Given the description of an element on the screen output the (x, y) to click on. 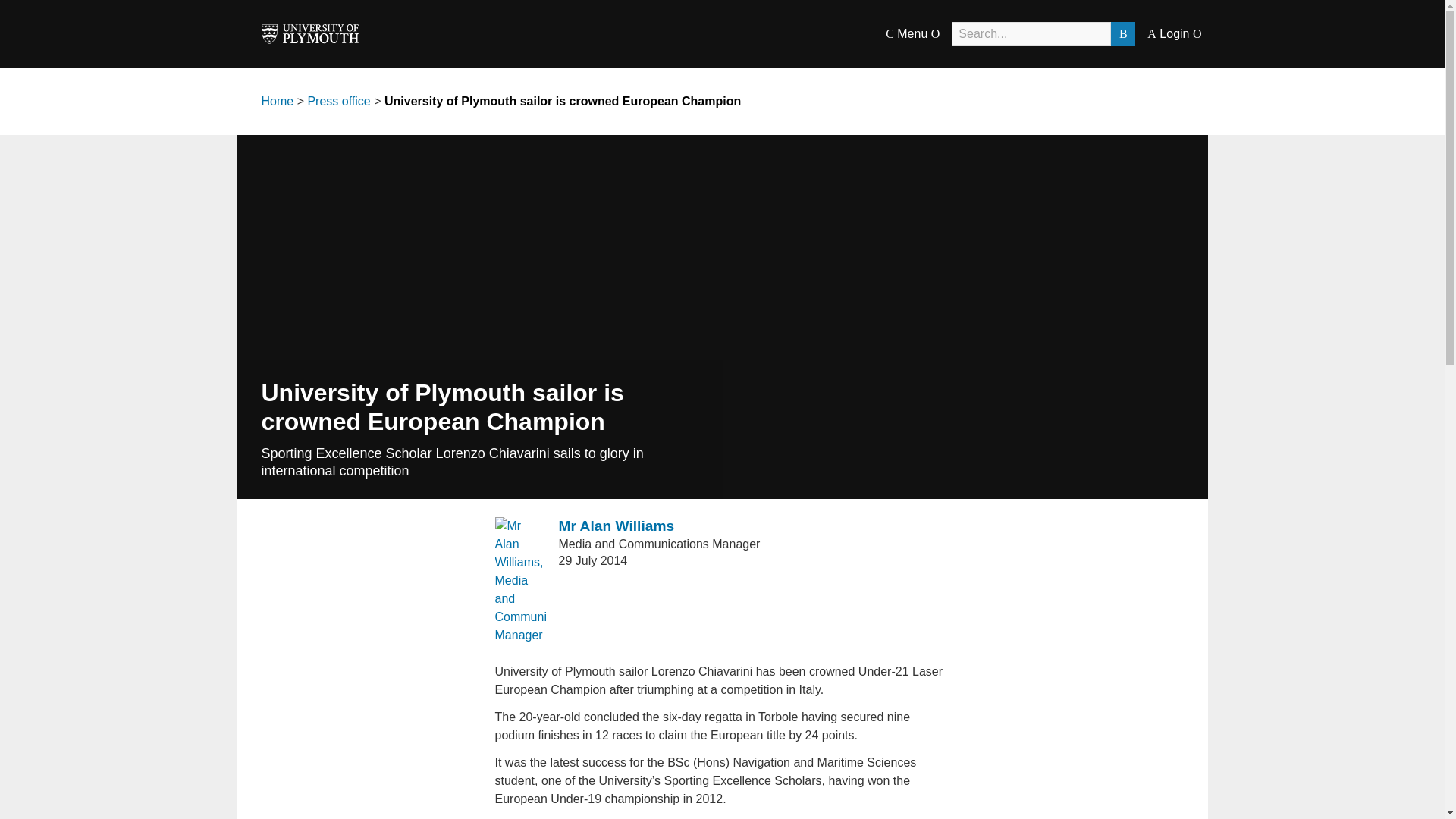
B (1122, 33)
C Menu O (911, 33)
A Login O (1174, 33)
